Given the description of an element on the screen output the (x, y) to click on. 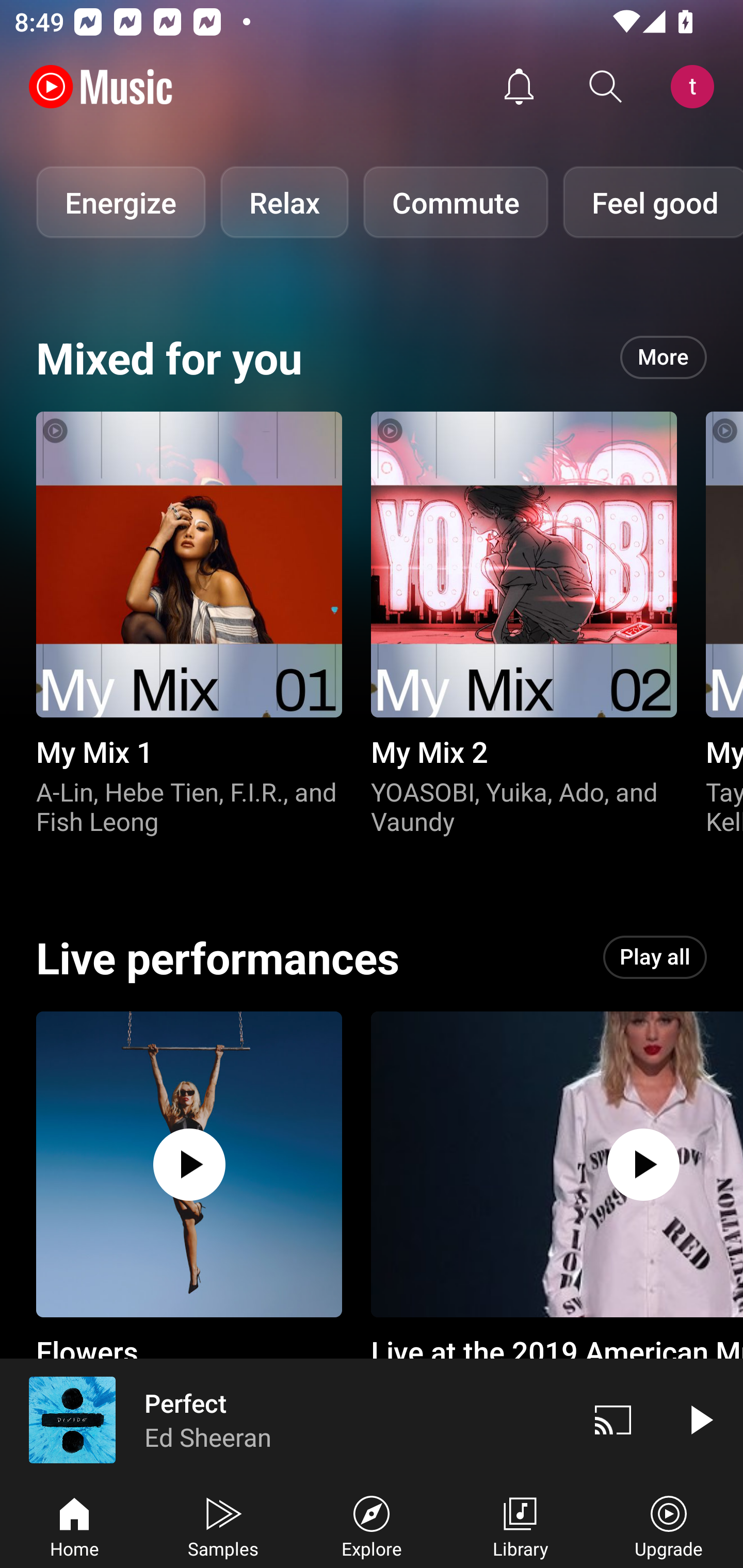
Activity feed (518, 86)
Search (605, 86)
Account (696, 86)
Perfect Ed Sheeran (284, 1419)
Cast. Disconnected (612, 1419)
Play video (699, 1419)
Home (74, 1524)
Samples (222, 1524)
Explore (371, 1524)
Library (519, 1524)
Upgrade (668, 1524)
